Given the description of an element on the screen output the (x, y) to click on. 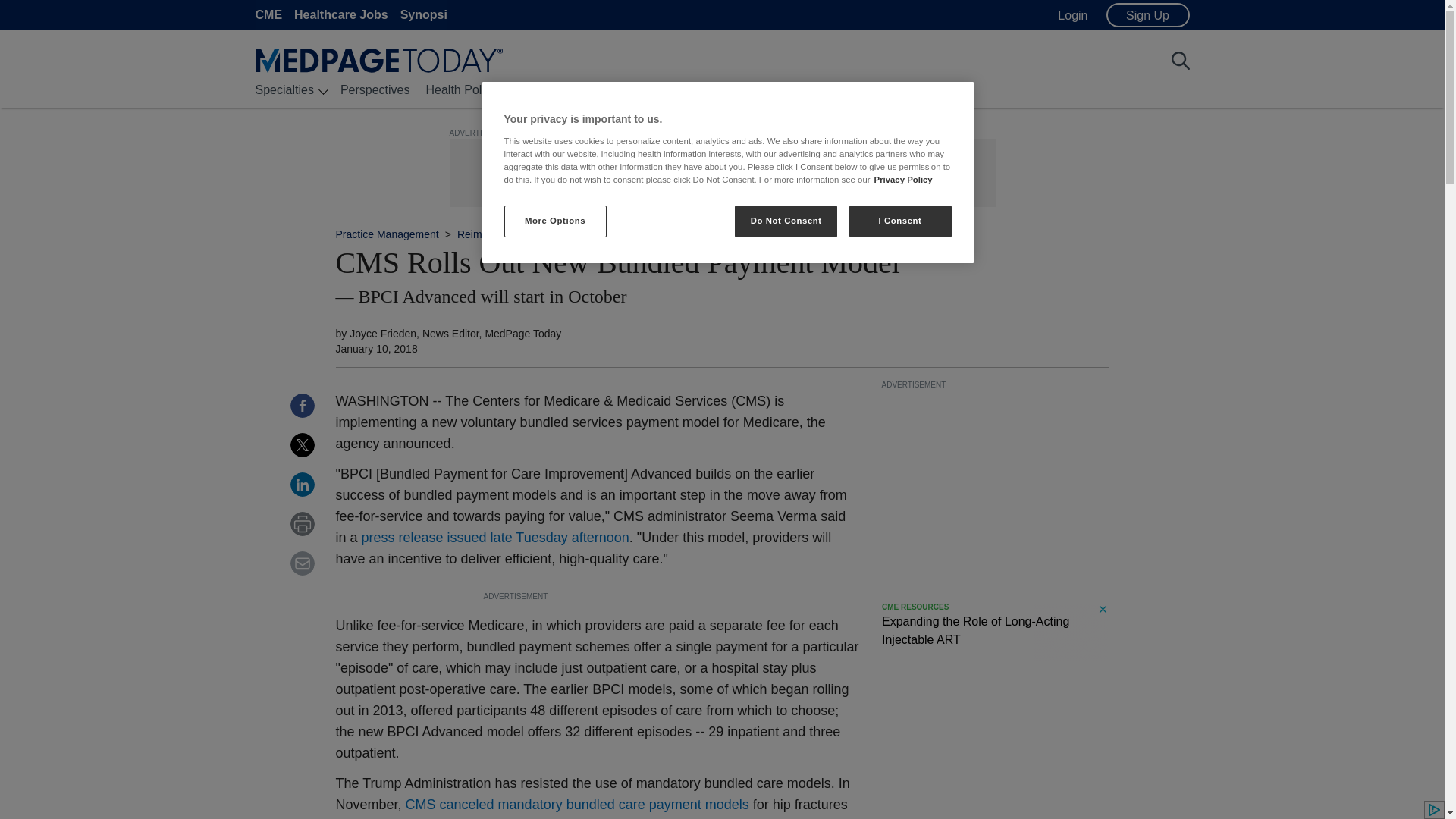
Share on LinkedIn. Opens in a new tab or window (301, 484)
3rd party ad content (994, 631)
Share on X. Opens in a new tab or window (301, 445)
Healthcare Jobs (341, 14)
Opens in a new tab or window (577, 804)
Specialties (283, 89)
CME (268, 14)
3rd party ad content (724, 172)
Synopsi (423, 14)
Opens in a new tab or window (494, 537)
3rd party ad content (994, 484)
Share on Facebook. Opens in a new tab or window (301, 405)
